Given the description of an element on the screen output the (x, y) to click on. 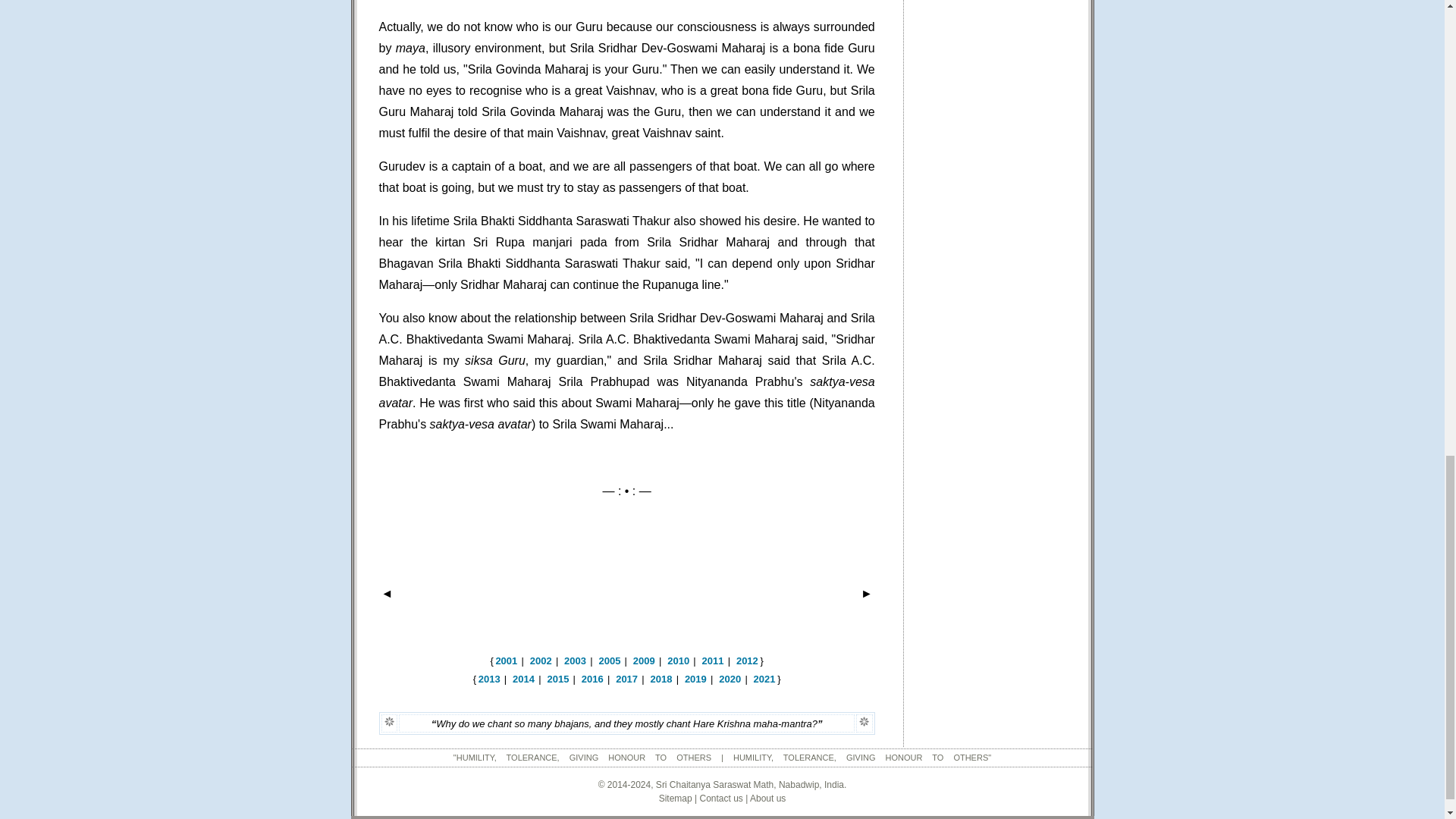
2014 (523, 678)
2002 (540, 660)
2020 (730, 678)
2010 (677, 660)
2015 (558, 678)
2019 (695, 678)
Contact us (720, 798)
2011 (712, 660)
Sitemap (676, 798)
2018 (661, 678)
2005 (609, 660)
2003 (575, 660)
2017 (626, 678)
2009 (644, 660)
2001 (505, 660)
